Given the description of an element on the screen output the (x, y) to click on. 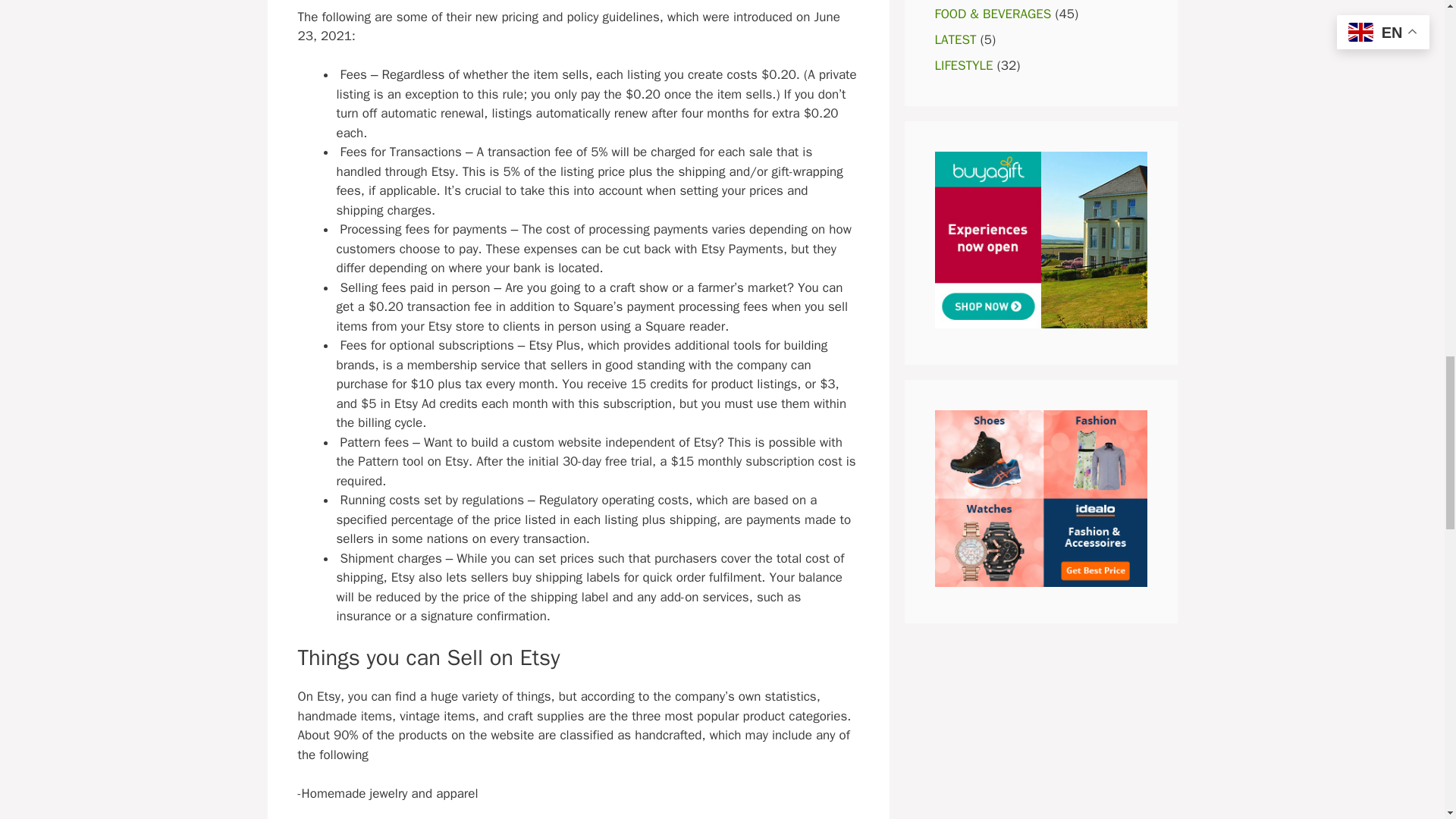
LATEST (954, 39)
LIFESTYLE (963, 65)
